Given the description of an element on the screen output the (x, y) to click on. 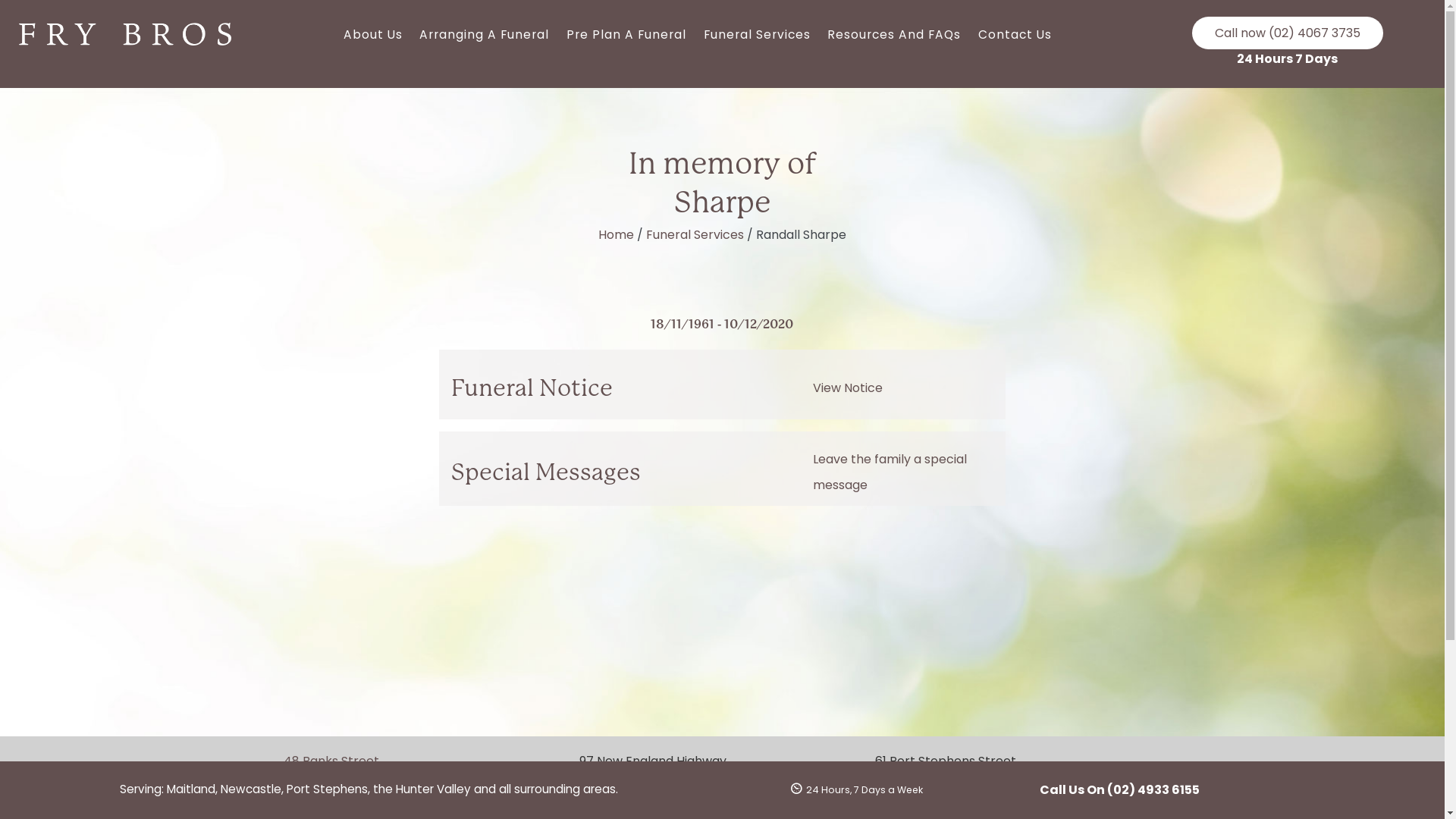
Pre Plan A Funeral Element type: text (626, 34)
Contact Us Element type: text (1015, 34)
Funeral Notice
View Notice Element type: text (722, 384)
Home Element type: text (615, 234)
Special Messages
Leave the family a special message Element type: text (722, 468)
Call Us On (02) 4933 6155 Element type: text (1118, 789)
Arranging A Funeral Element type: text (484, 34)
Funeral Services Element type: text (756, 34)
About Us Element type: text (372, 34)
Resources And FAQs Element type: text (894, 34)
48 Banks Street
East Maitland, NSW 2323 Element type: text (354, 770)
Funeral Services Element type: text (694, 234)
Call now (02) 4067 3735 Element type: text (1287, 32)
